Given the description of an element on the screen output the (x, y) to click on. 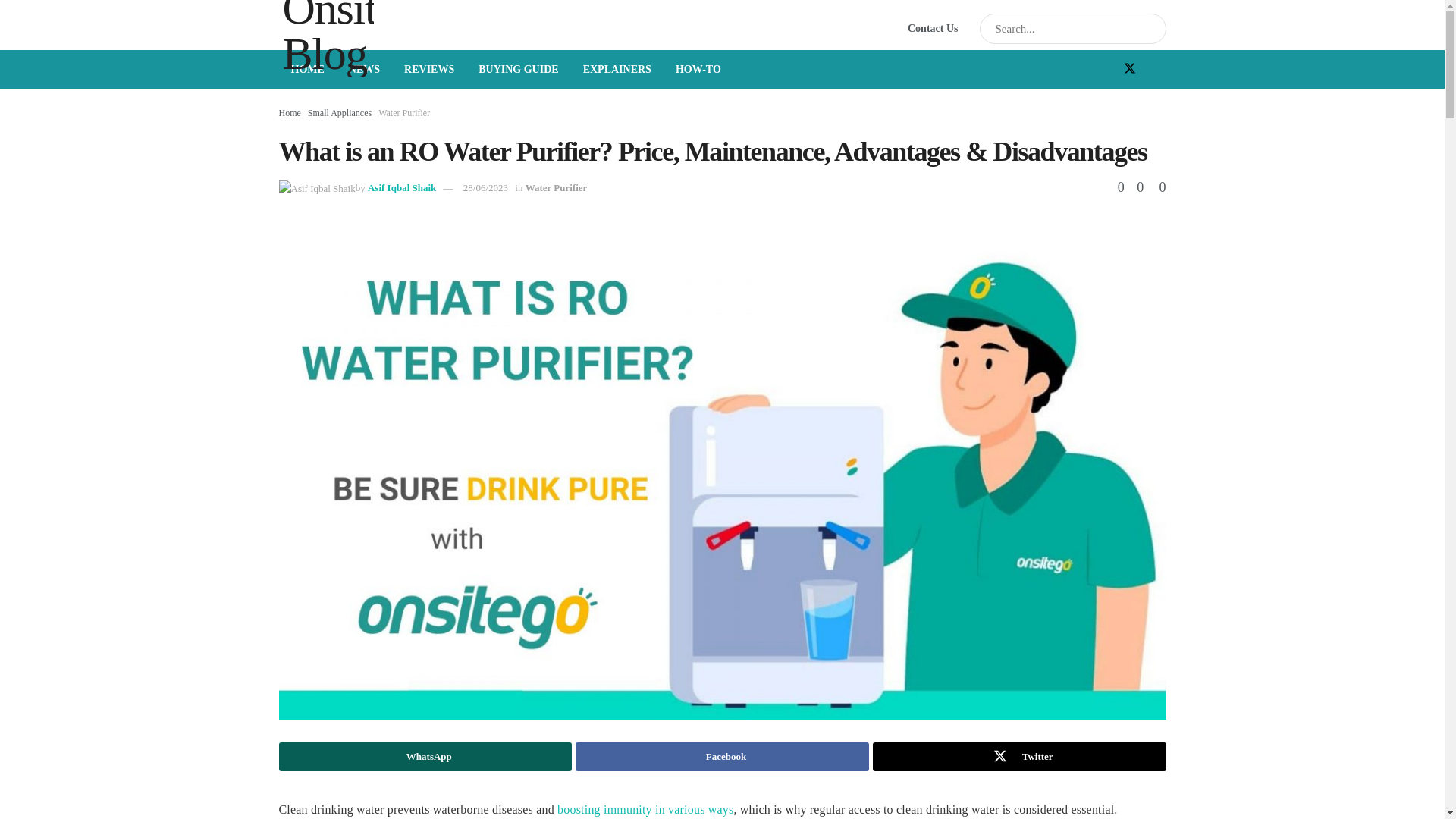
Home (290, 112)
WhatsApp (425, 756)
0 (1134, 186)
Contact Us (932, 28)
REVIEWS (428, 68)
Water Purifier (403, 112)
BUYING GUIDE (517, 68)
HOME (307, 68)
Facebook (722, 756)
Water Purifier (556, 187)
